Given the description of an element on the screen output the (x, y) to click on. 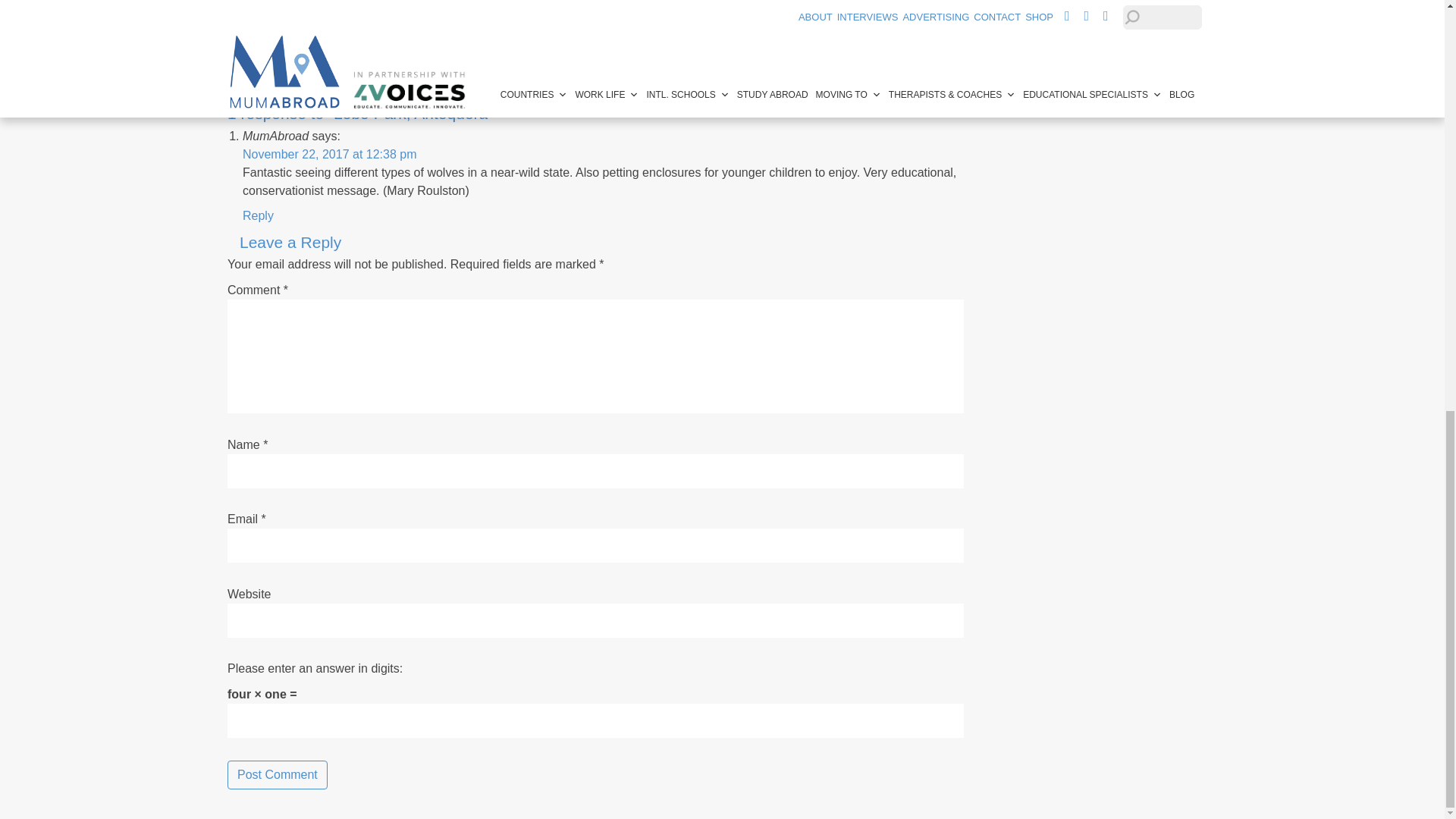
Post Comment (277, 774)
